Given the description of an element on the screen output the (x, y) to click on. 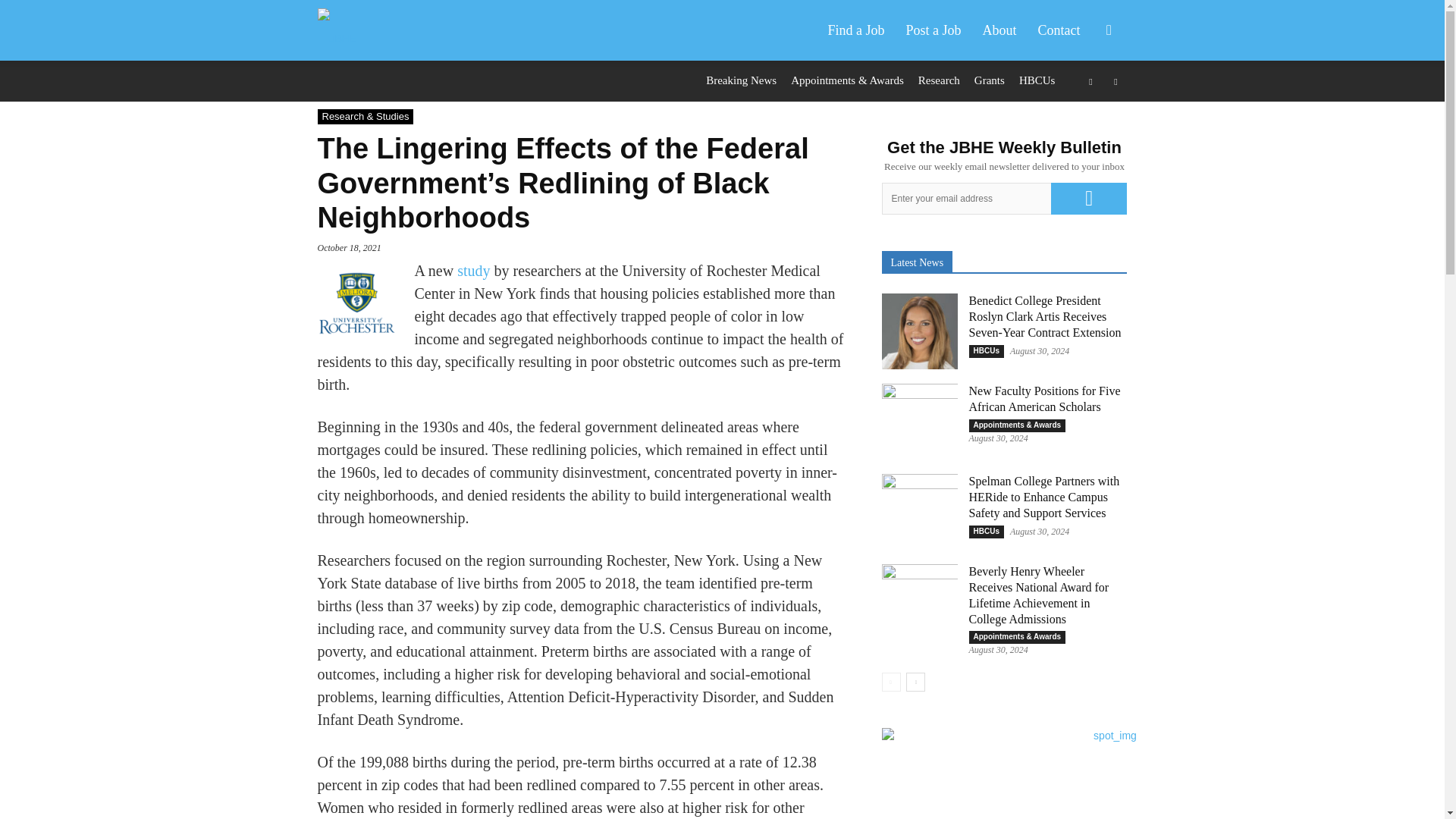
HBCUs (1037, 80)
Search (1085, 102)
contact (1058, 30)
study (470, 270)
Research (938, 80)
Grants (989, 80)
Find a Job (855, 30)
Post a Job (933, 30)
Breaking News (741, 80)
The Journal of Blacks in Higher Education (344, 30)
